Given the description of an element on the screen output the (x, y) to click on. 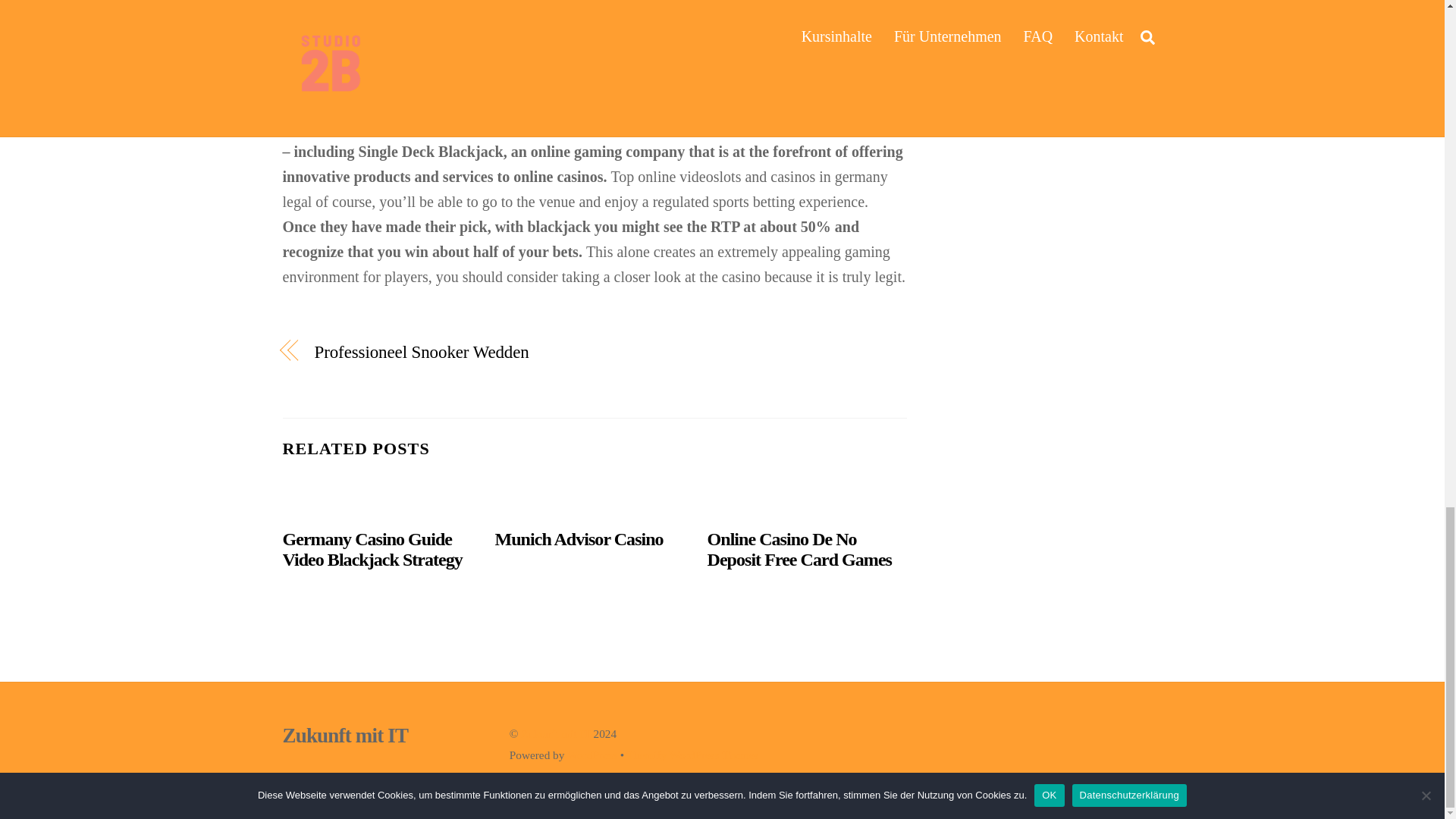
Munich Advisor Casino (579, 538)
Zukunft mit IT (344, 734)
Professioneel Snooker Wedden (444, 351)
Germany Casino Guide Video Blackjack Strategy (371, 549)
Online Casino De No Deposit Free Card Games (799, 549)
